Given the description of an element on the screen output the (x, y) to click on. 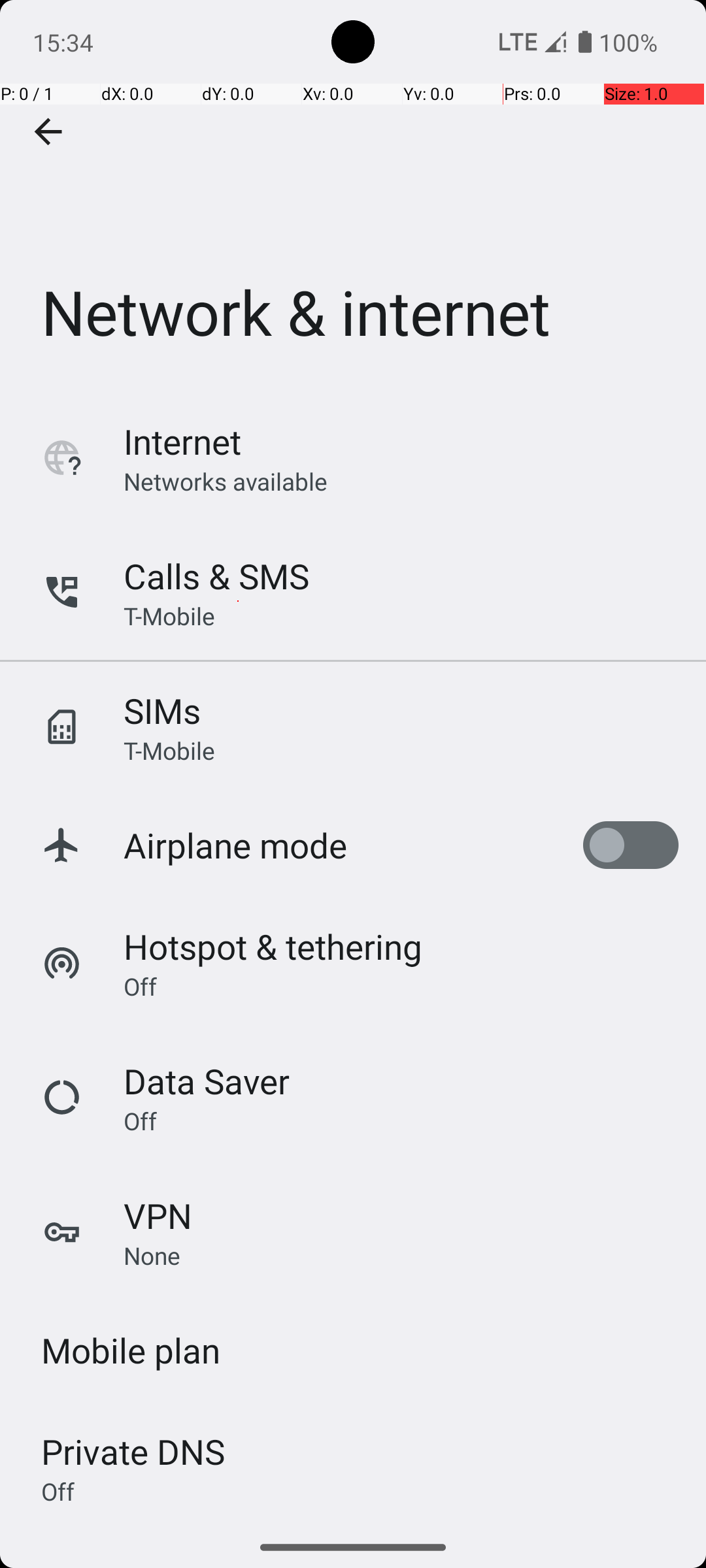
Internet Element type: android.widget.TextView (182, 441)
Networks available Element type: android.widget.TextView (225, 480)
Calls & SMS Element type: android.widget.TextView (216, 575)
SIMs Element type: android.widget.TextView (161, 710)
Airplane mode Element type: android.widget.TextView (235, 844)
Hotspot & tethering Element type: android.widget.TextView (272, 946)
VPN Element type: android.widget.TextView (157, 1215)
Mobile plan Element type: android.widget.TextView (130, 1349)
Private DNS Element type: android.widget.TextView (132, 1451)
